Given the description of an element on the screen output the (x, y) to click on. 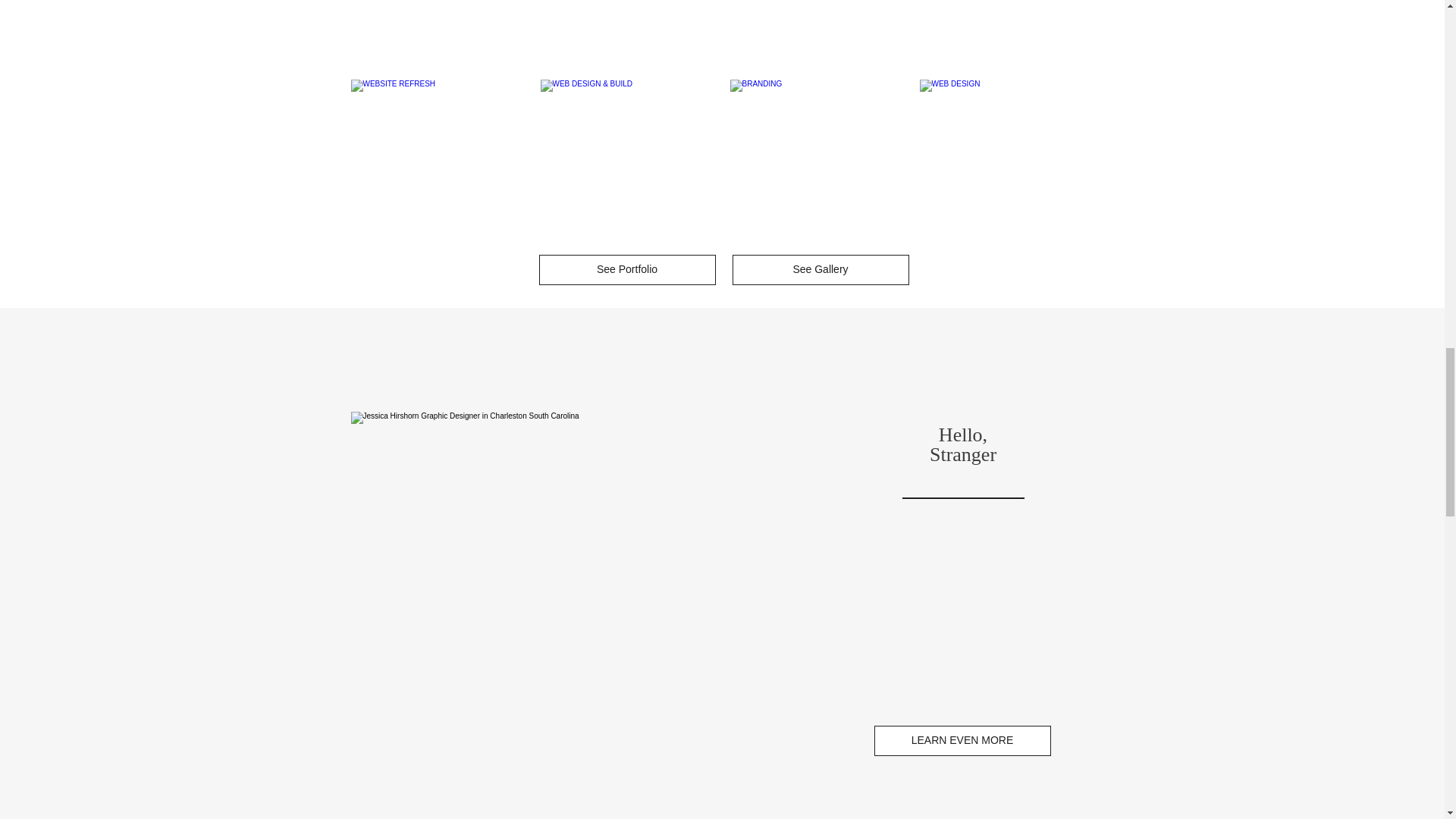
See Portfolio (626, 269)
LEARN EVEN MORE (961, 740)
See Gallery (820, 269)
